Given the description of an element on the screen output the (x, y) to click on. 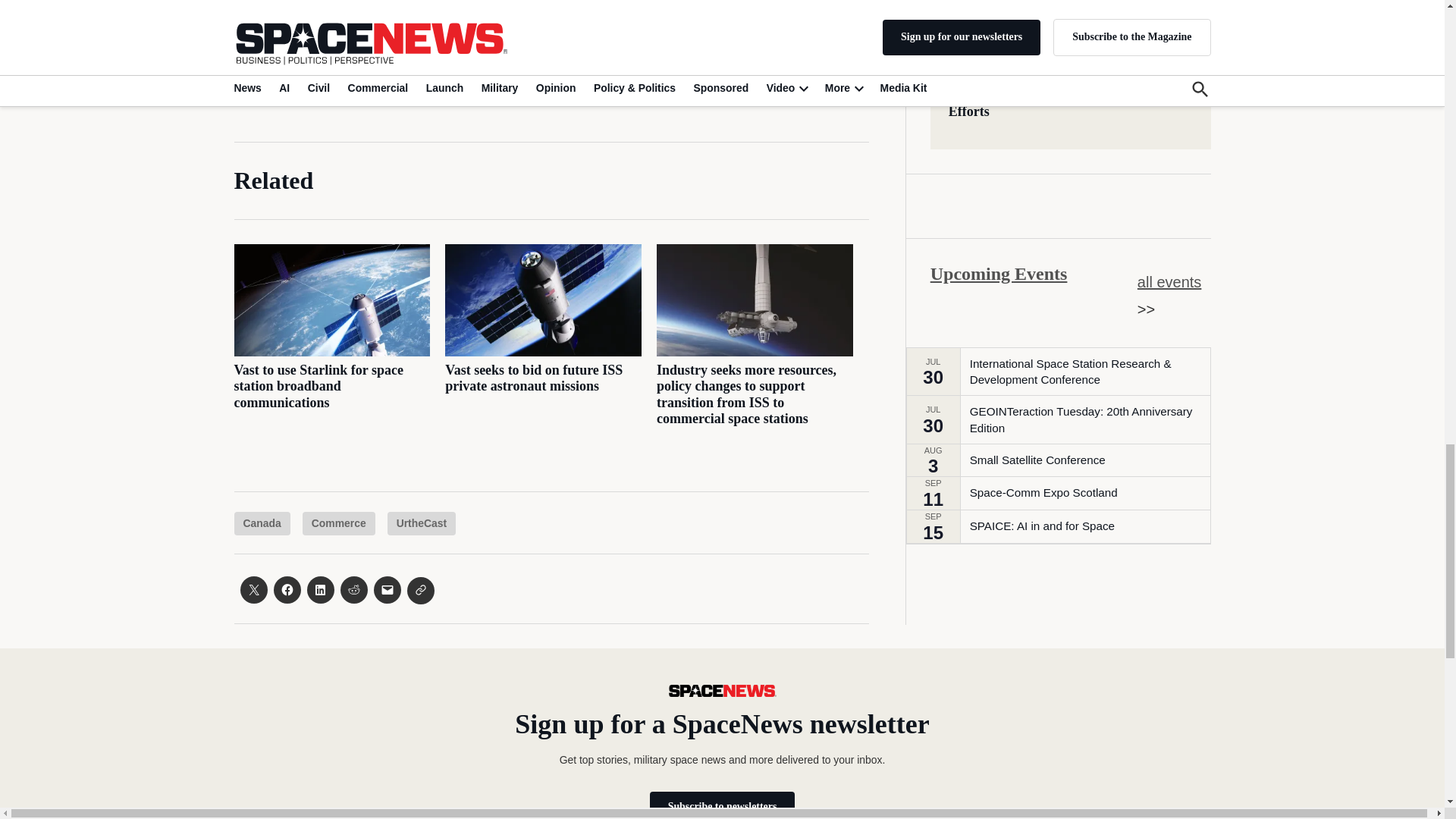
Vast seeks to bid on future ISS private astronaut missions (534, 377)
Vast seeks to bid on future ISS private astronaut missions (543, 300)
